Given the description of an element on the screen output the (x, y) to click on. 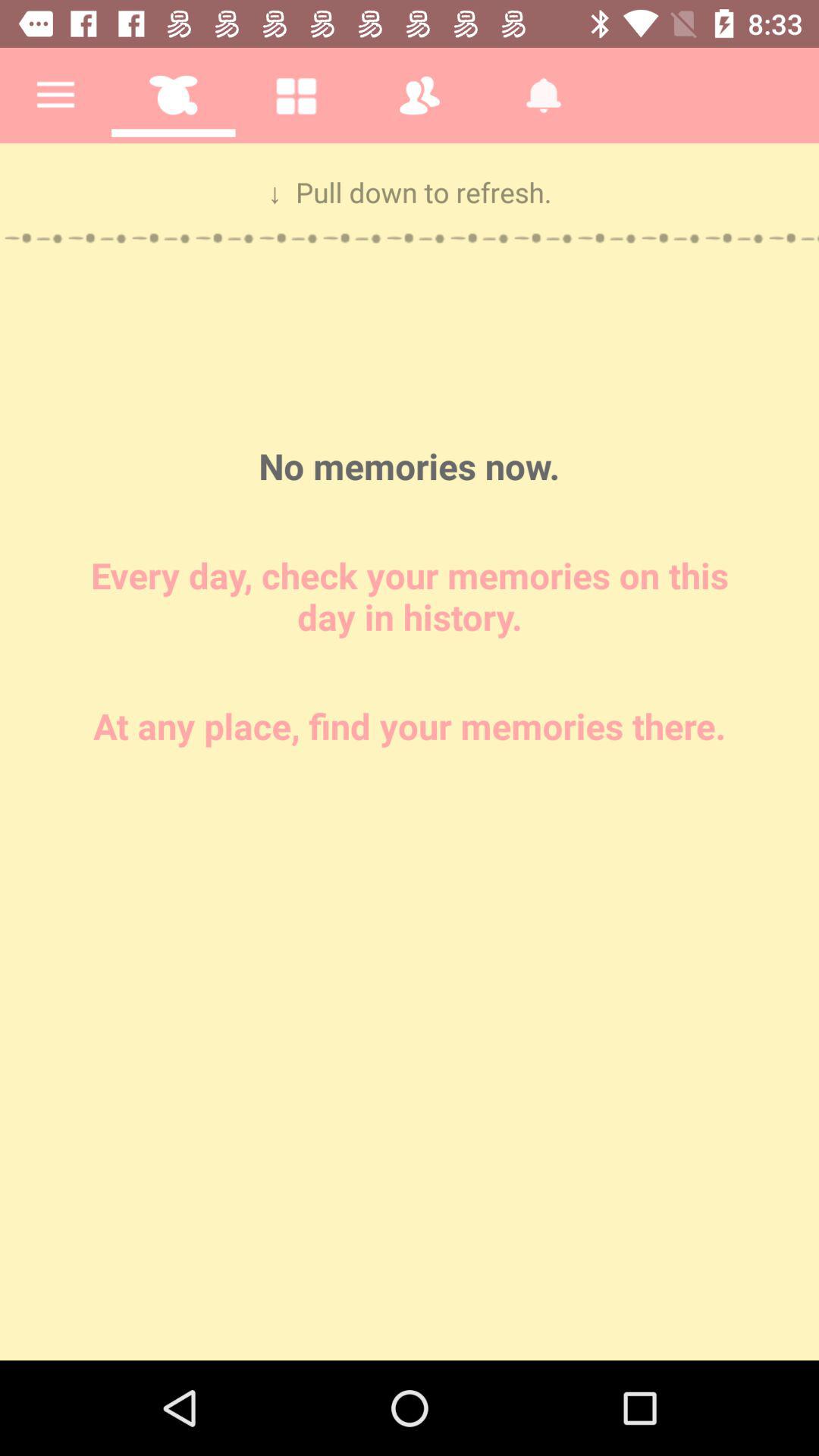
pull down to refresh memories (409, 751)
